Given the description of an element on the screen output the (x, y) to click on. 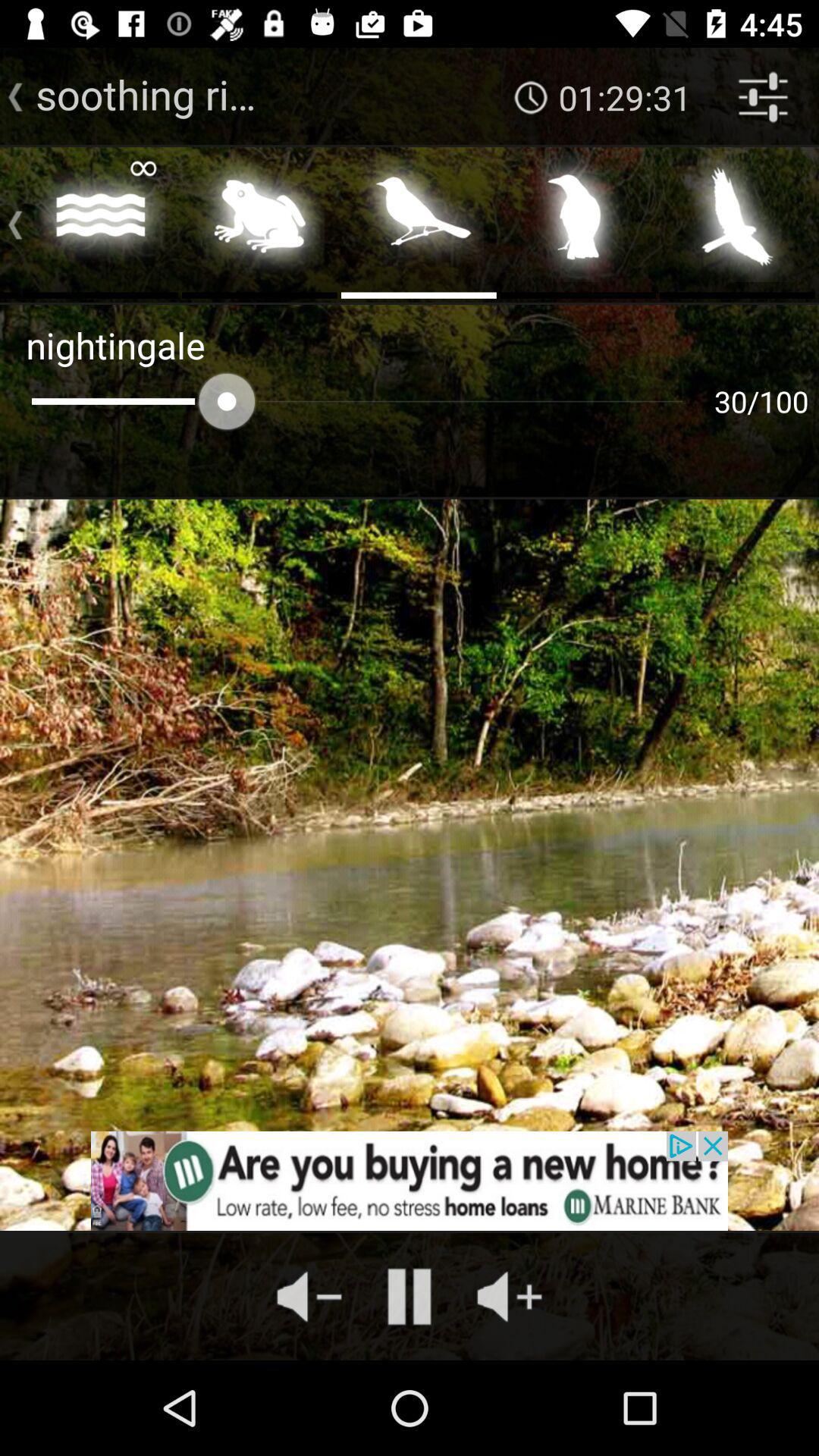
select bird (577, 221)
